Given the description of an element on the screen output the (x, y) to click on. 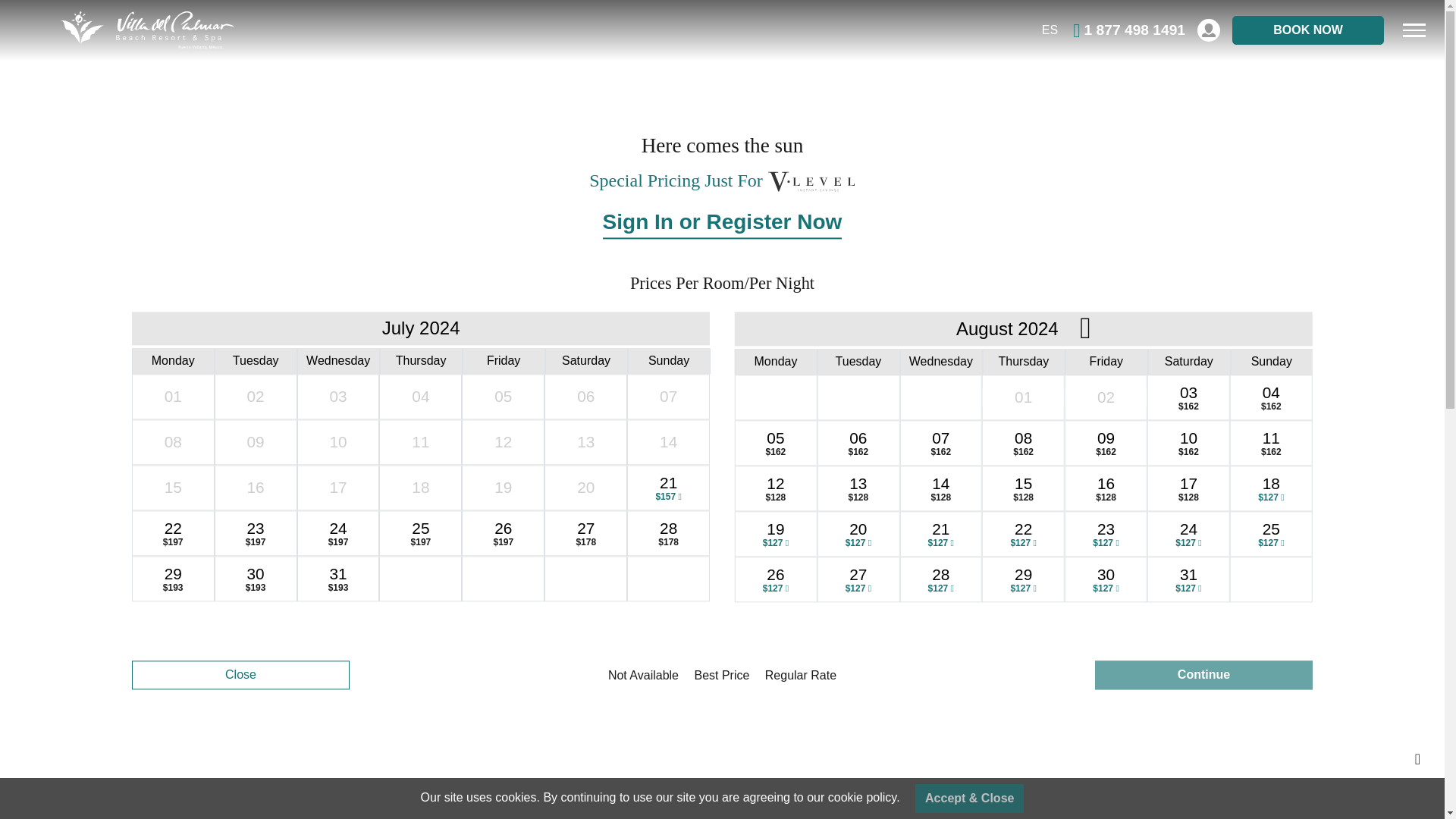
V-Level (811, 181)
BOOK NOW (1307, 30)
translation missing: en.prices (650, 282)
1 877 498 1491 (1129, 29)
ES (1050, 29)
